Given the description of an element on the screen output the (x, y) to click on. 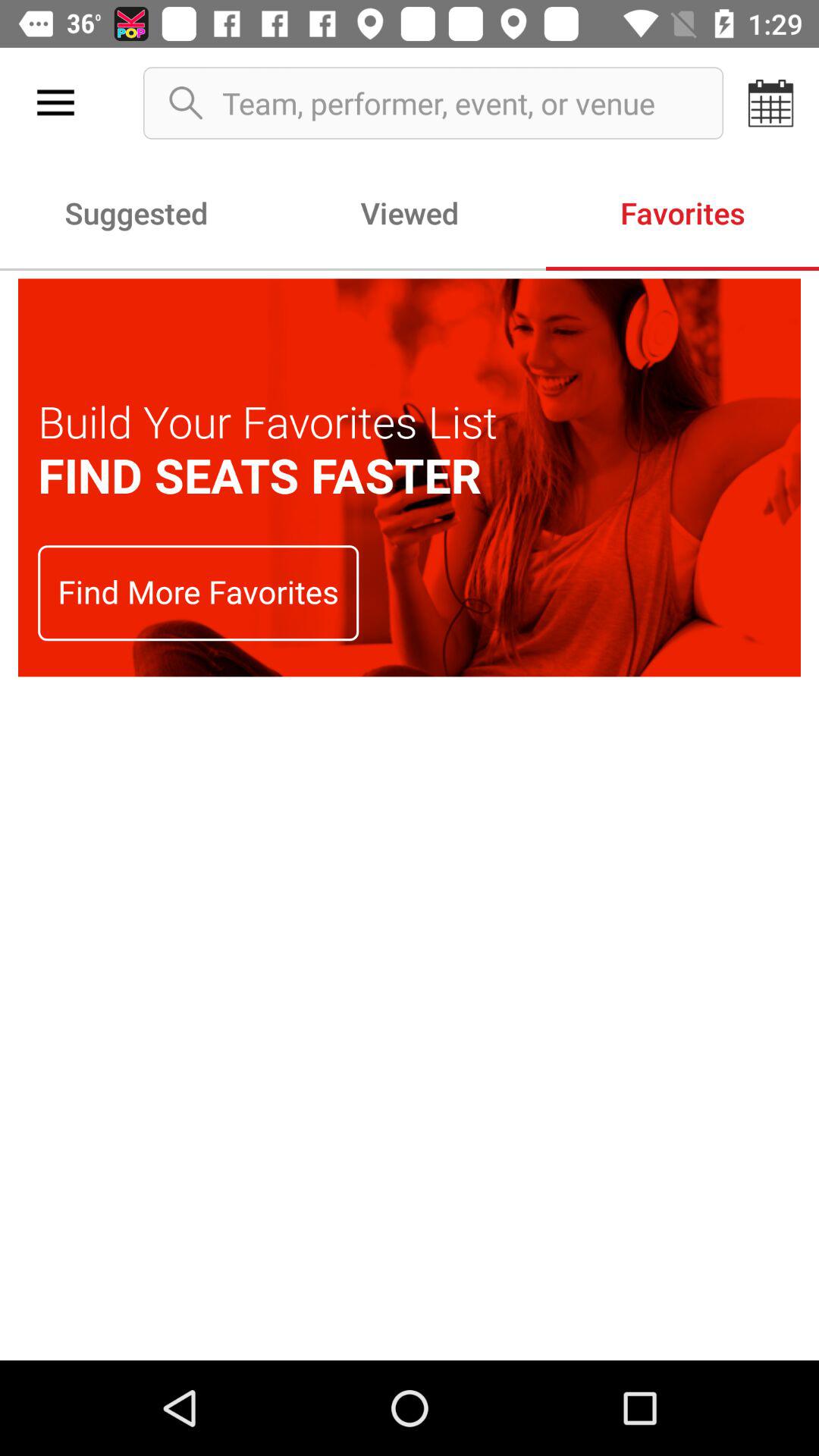
open icon to the right of suggested (409, 212)
